Given the description of an element on the screen output the (x, y) to click on. 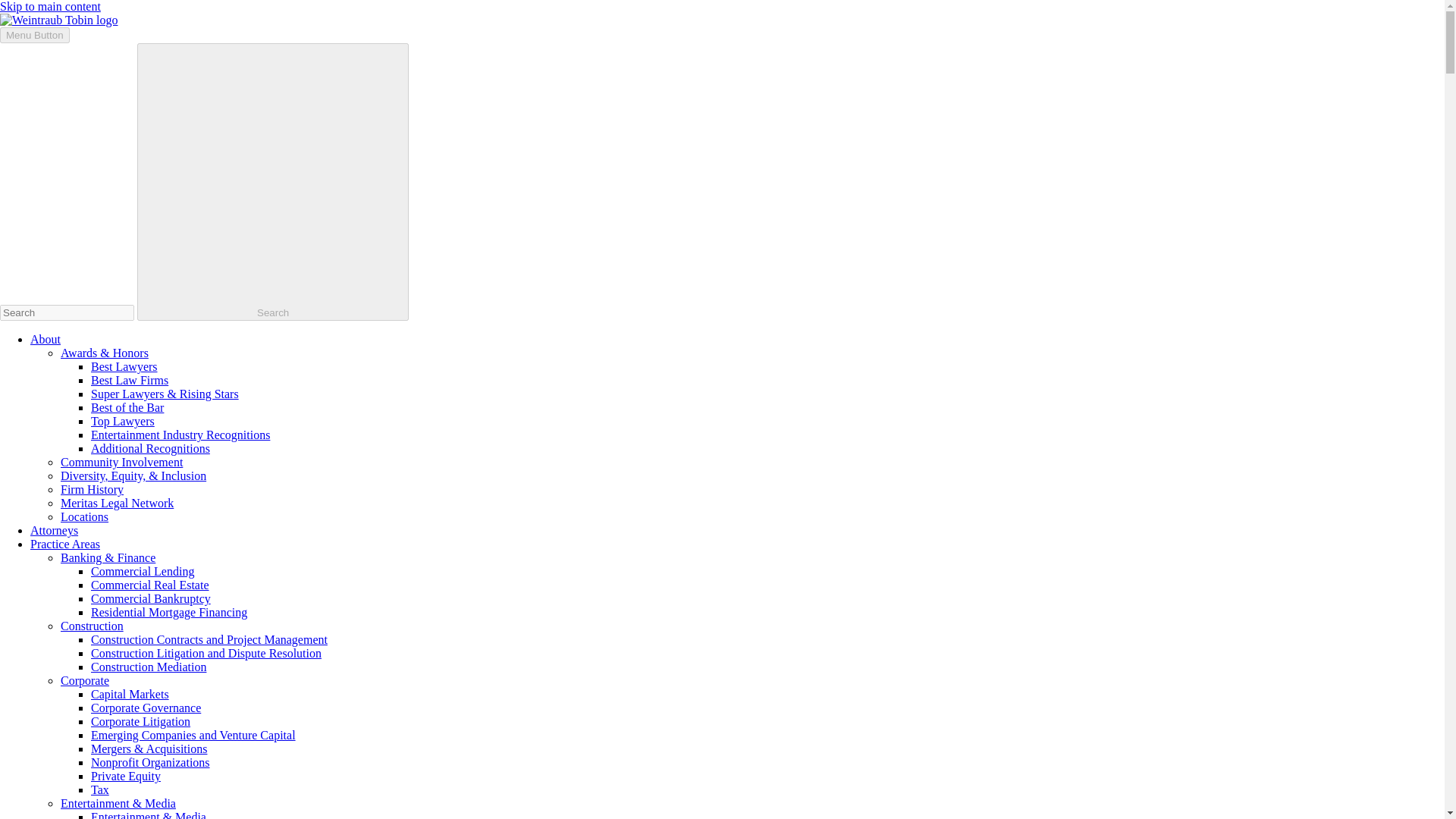
Corporate Governance (145, 707)
Commercial Lending (141, 571)
Best of the Bar (126, 407)
Corporate Litigation (140, 721)
Construction Mediation (148, 666)
Additional Recognitions (149, 448)
Meritas Legal Network (117, 502)
Construction Contracts and Project Management (208, 639)
Community Involvement (122, 461)
Top Lawyers (122, 420)
Tax (99, 789)
Best Lawyers (123, 366)
Residential Mortgage Financing (168, 612)
Capital Markets (129, 694)
Commercial Real Estate (149, 584)
